Given the description of an element on the screen output the (x, y) to click on. 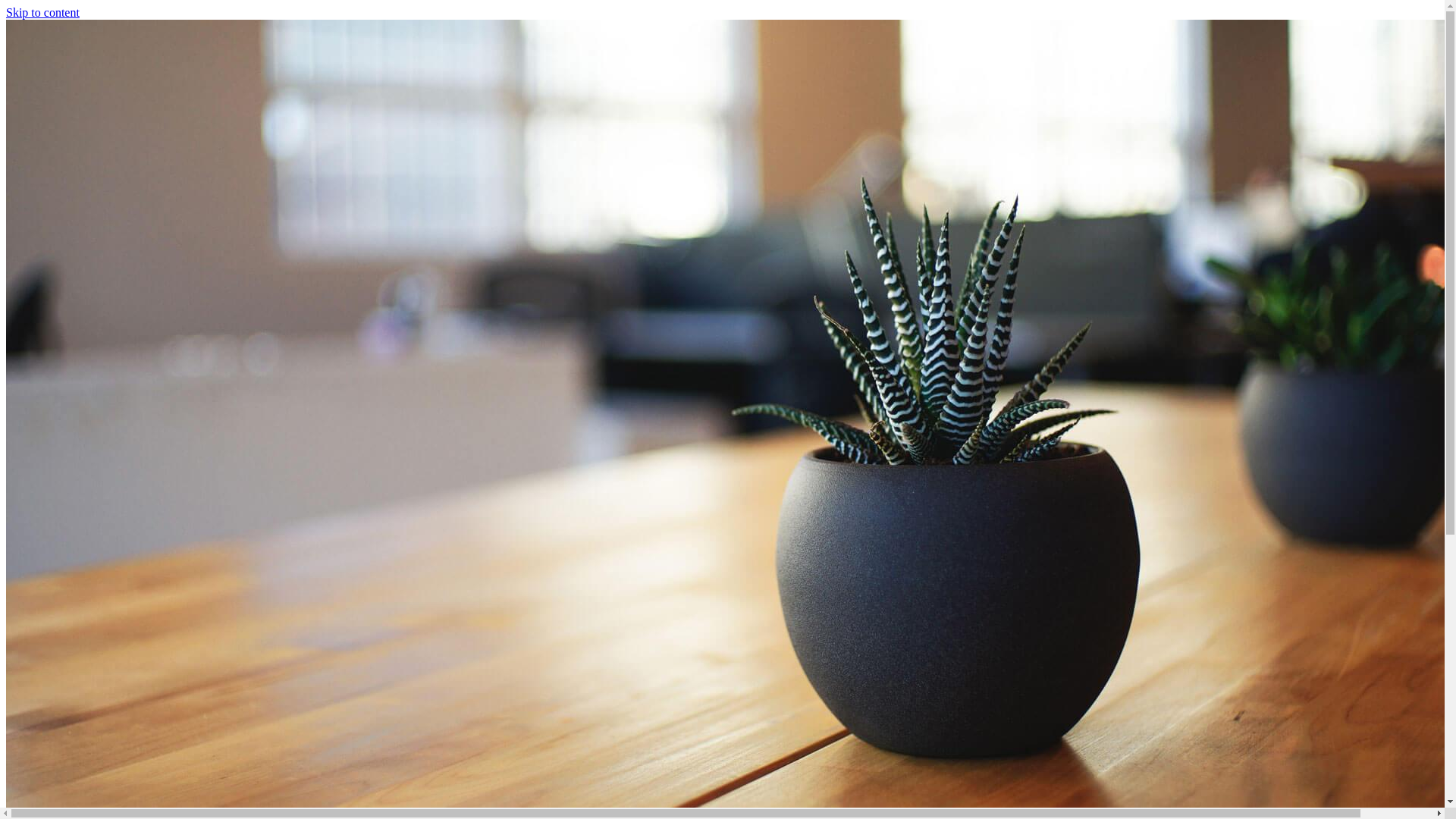
Skip to content Element type: text (42, 12)
